Given the description of an element on the screen output the (x, y) to click on. 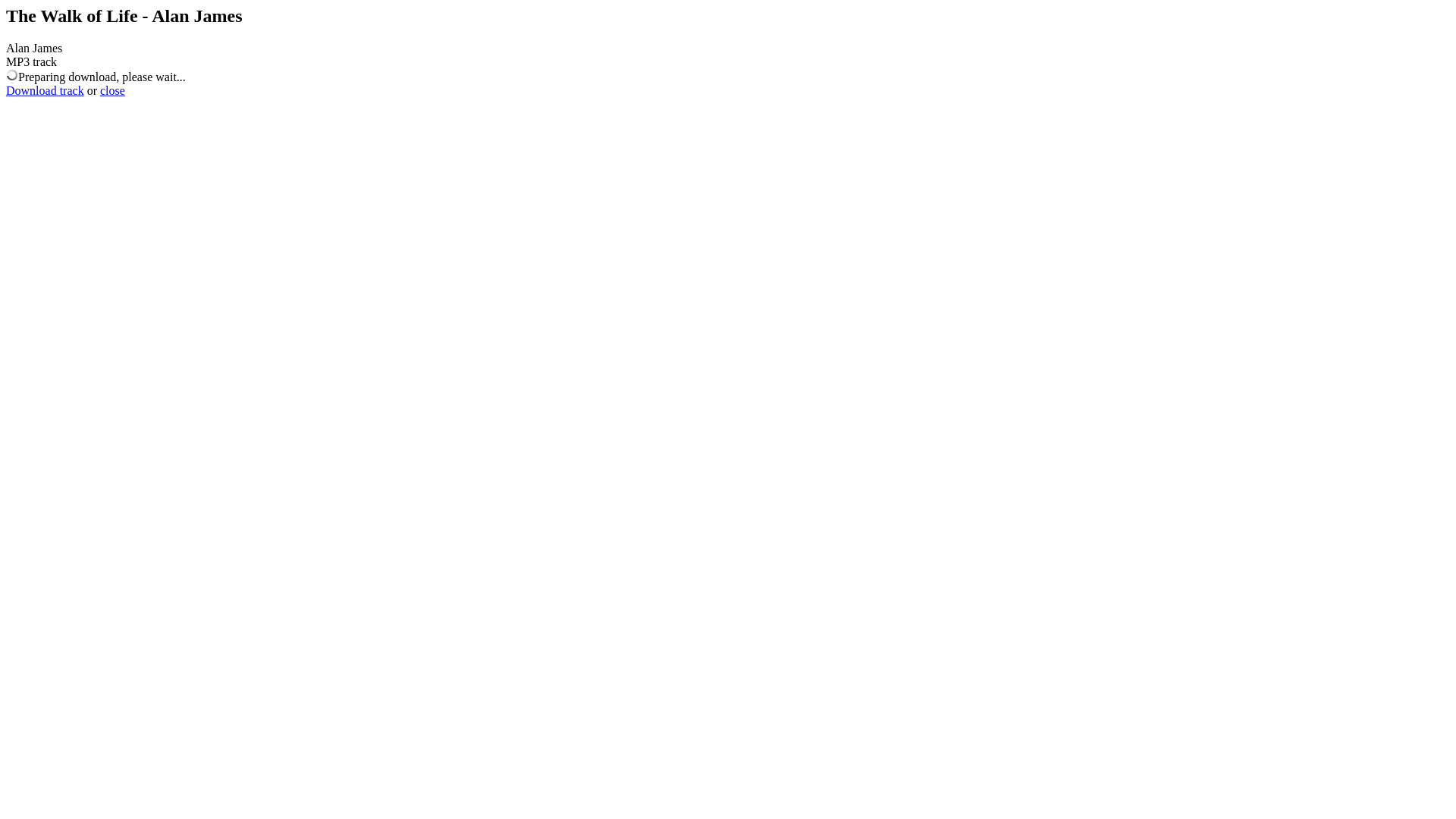
close Element type: text (112, 90)
Download track Element type: text (45, 90)
